Given the description of an element on the screen output the (x, y) to click on. 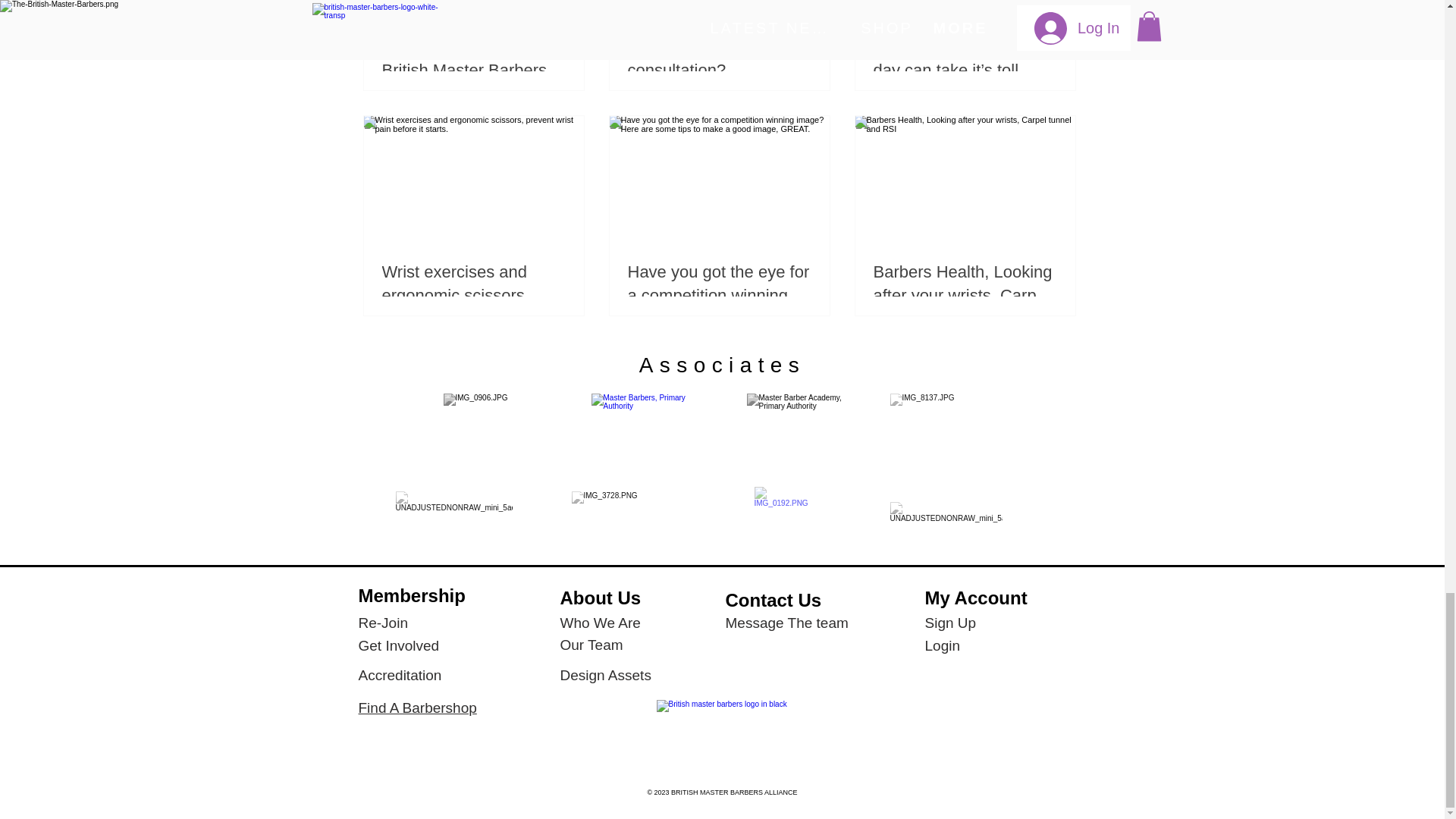
Get Involved (398, 645)
Re-Join (382, 622)
british-masters-logo-black.png (721, 736)
Who We Are (599, 622)
Our Team (591, 644)
Message The team (786, 622)
Find A Barbershop (417, 707)
Accreditation (399, 675)
